Given the description of an element on the screen output the (x, y) to click on. 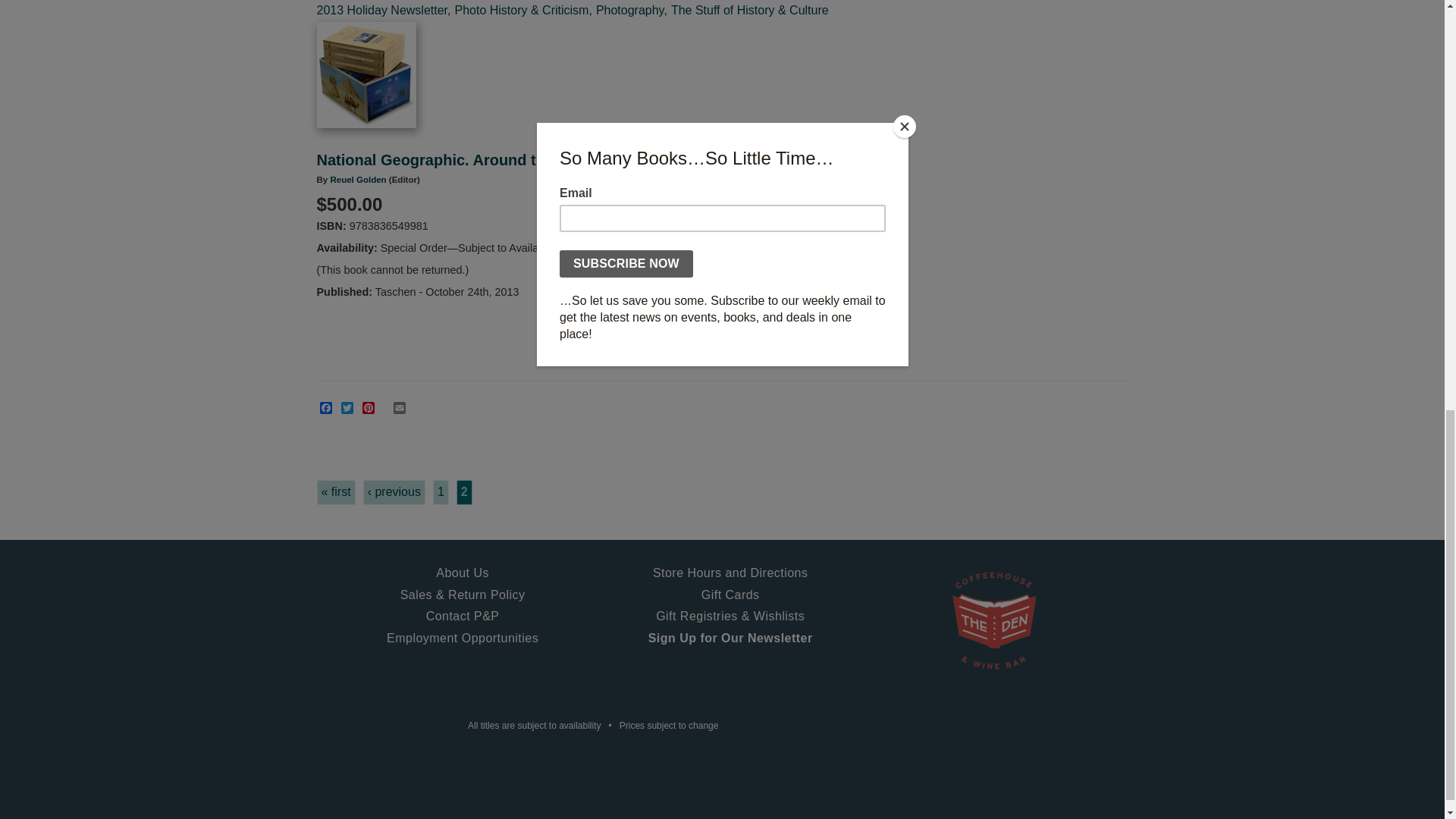
Add to Wish List (776, 332)
Add to Cart (650, 332)
